Given the description of an element on the screen output the (x, y) to click on. 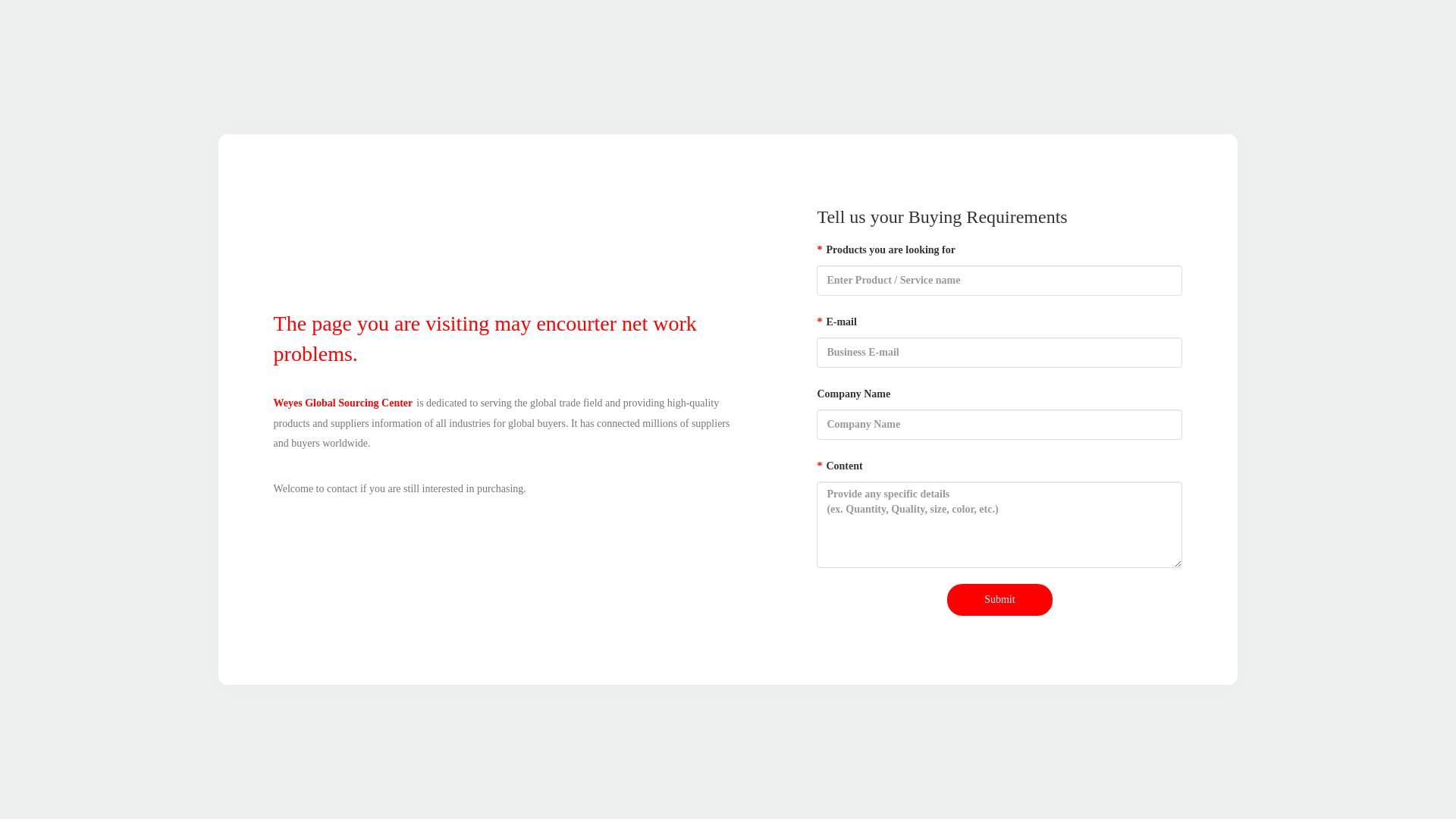
Submit (999, 599)
